Given the description of an element on the screen output the (x, y) to click on. 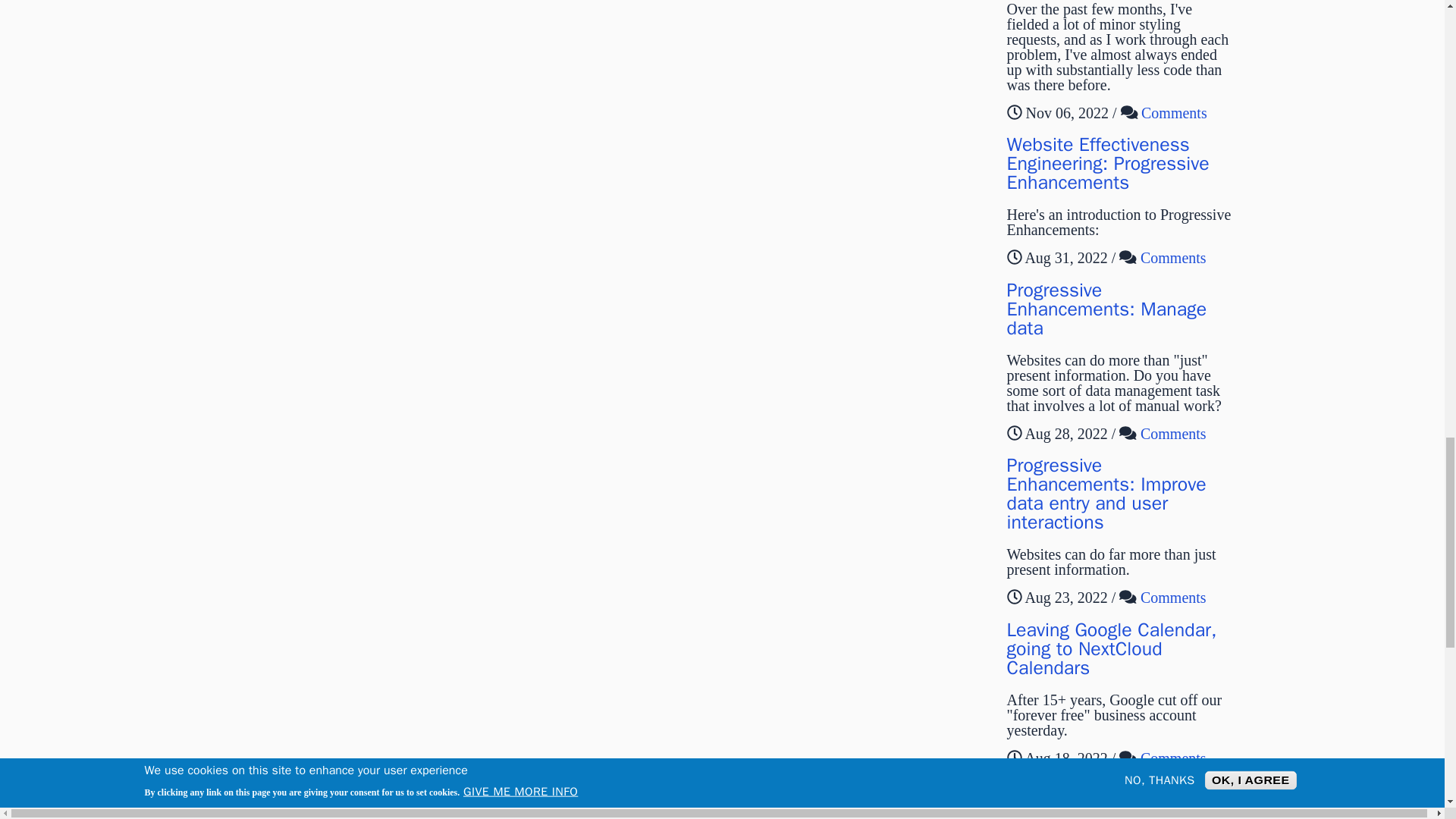
Thursday, August 18, 2022 - 14:28 (1065, 757)
Sunday, November 6, 2022 - 18:07 (1066, 112)
Tuesday, August 23, 2022 - 13:48 (1065, 597)
Sunday, August 28, 2022 - 14:41 (1065, 433)
Wednesday, August 31, 2022 - 08:30 (1065, 257)
